Given the description of an element on the screen output the (x, y) to click on. 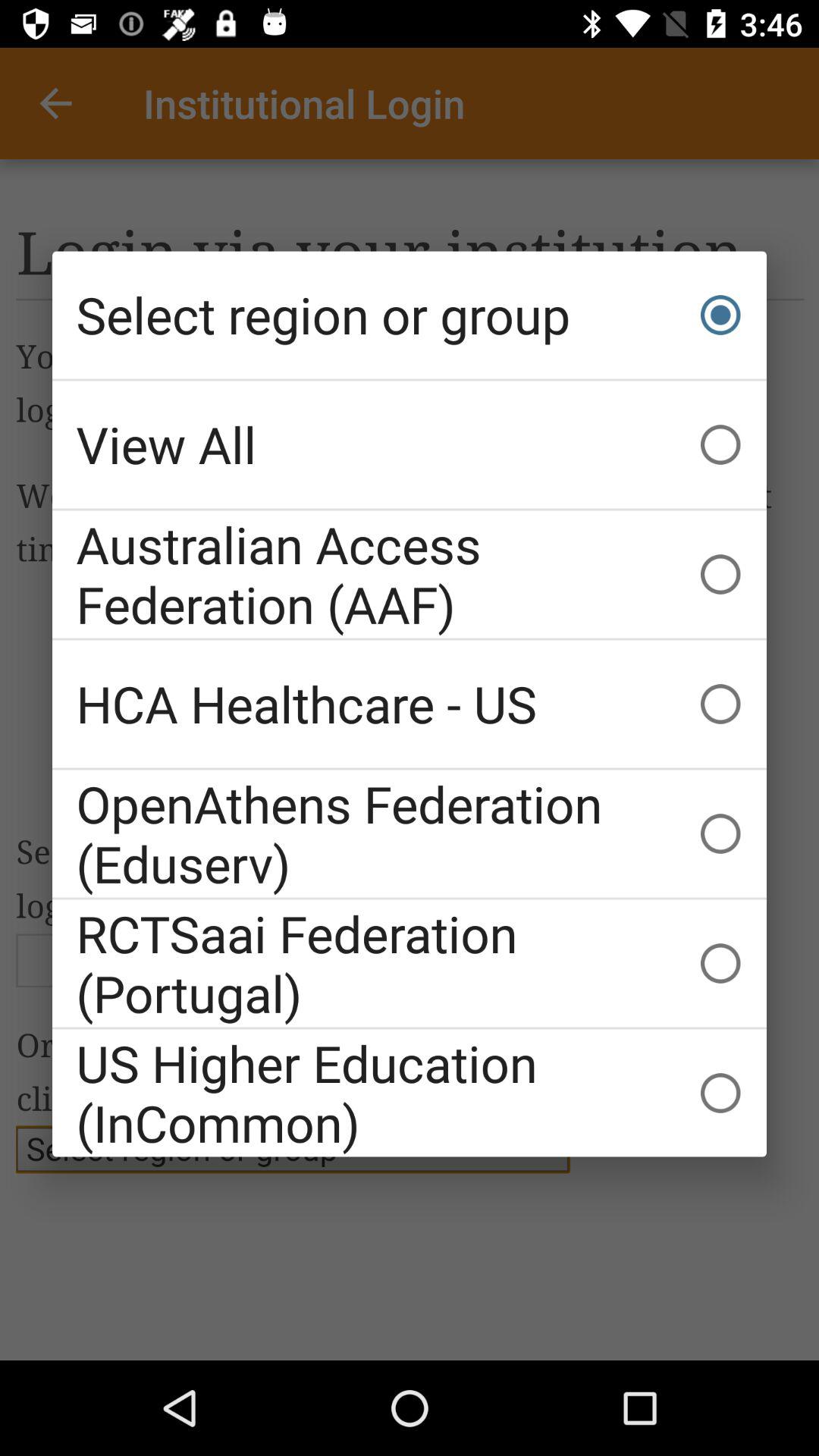
swipe to view all item (409, 444)
